Given the description of an element on the screen output the (x, y) to click on. 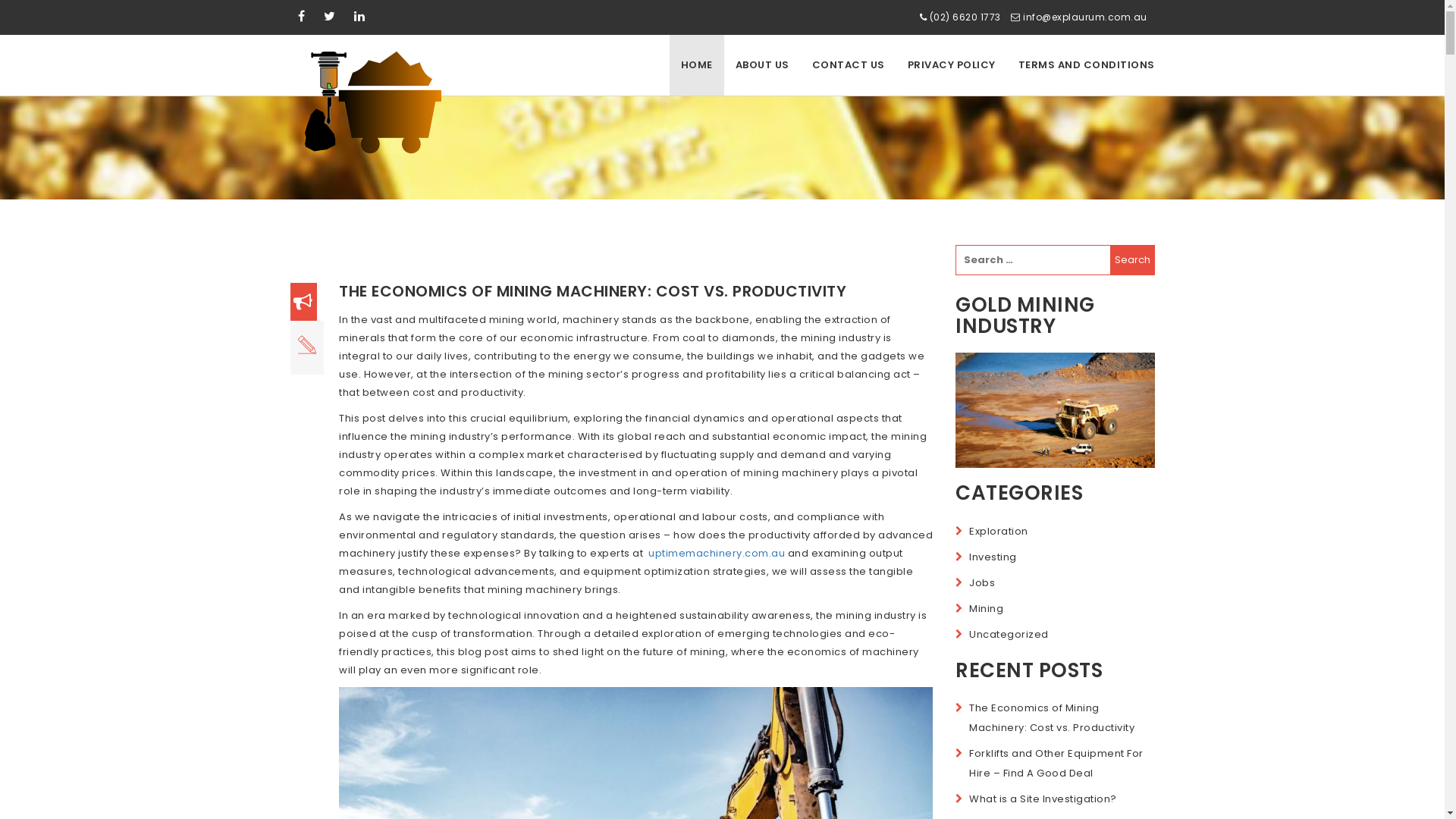
The Economics of Mining Machinery: Cost vs. Productivity Element type: text (1051, 717)
uptimemachinery.com.au Element type: text (716, 553)
Jobs Element type: text (981, 582)
Mining Element type: text (986, 608)
What is a Site Investigation? Element type: text (1043, 798)
THE ECONOMICS OF MINING MACHINERY: COST VS. PRODUCTIVITY Element type: text (592, 290)
HOME Element type: text (695, 64)
PRIVACY POLICY Element type: text (951, 64)
ABOUT US Element type: text (761, 64)
Uncategorized Element type: text (1008, 634)
Search Element type: text (1132, 259)
Investing Element type: text (992, 556)
TERMS AND CONDITIONS Element type: text (1086, 64)
Exploration Element type: text (998, 531)
CONTACT US Element type: text (848, 64)
